Given the description of an element on the screen output the (x, y) to click on. 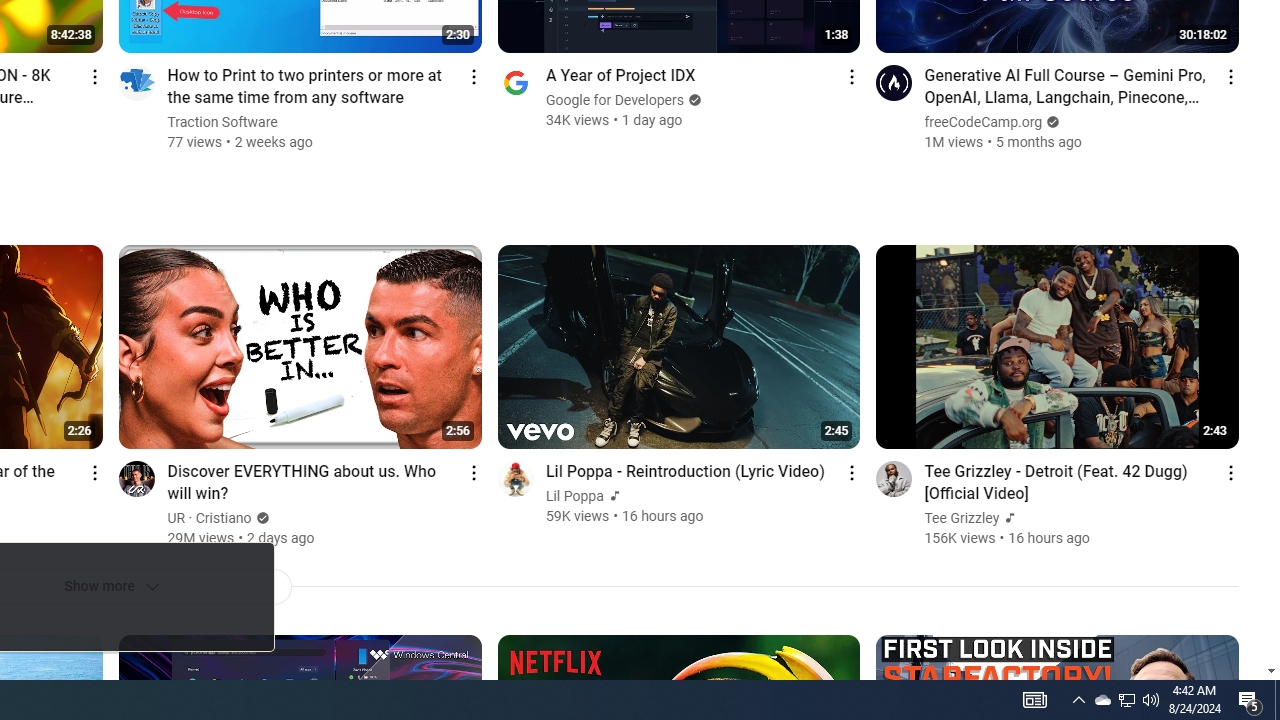
Go to channel (893, 478)
freeCodeCamp.org (984, 122)
Google for Developers (615, 100)
Action menu (1229, 472)
Verified (260, 518)
Traction Software (223, 122)
Tee Grizzley (962, 518)
Official Artist Channel (1007, 518)
Lil Poppa (575, 496)
